Given the description of an element on the screen output the (x, y) to click on. 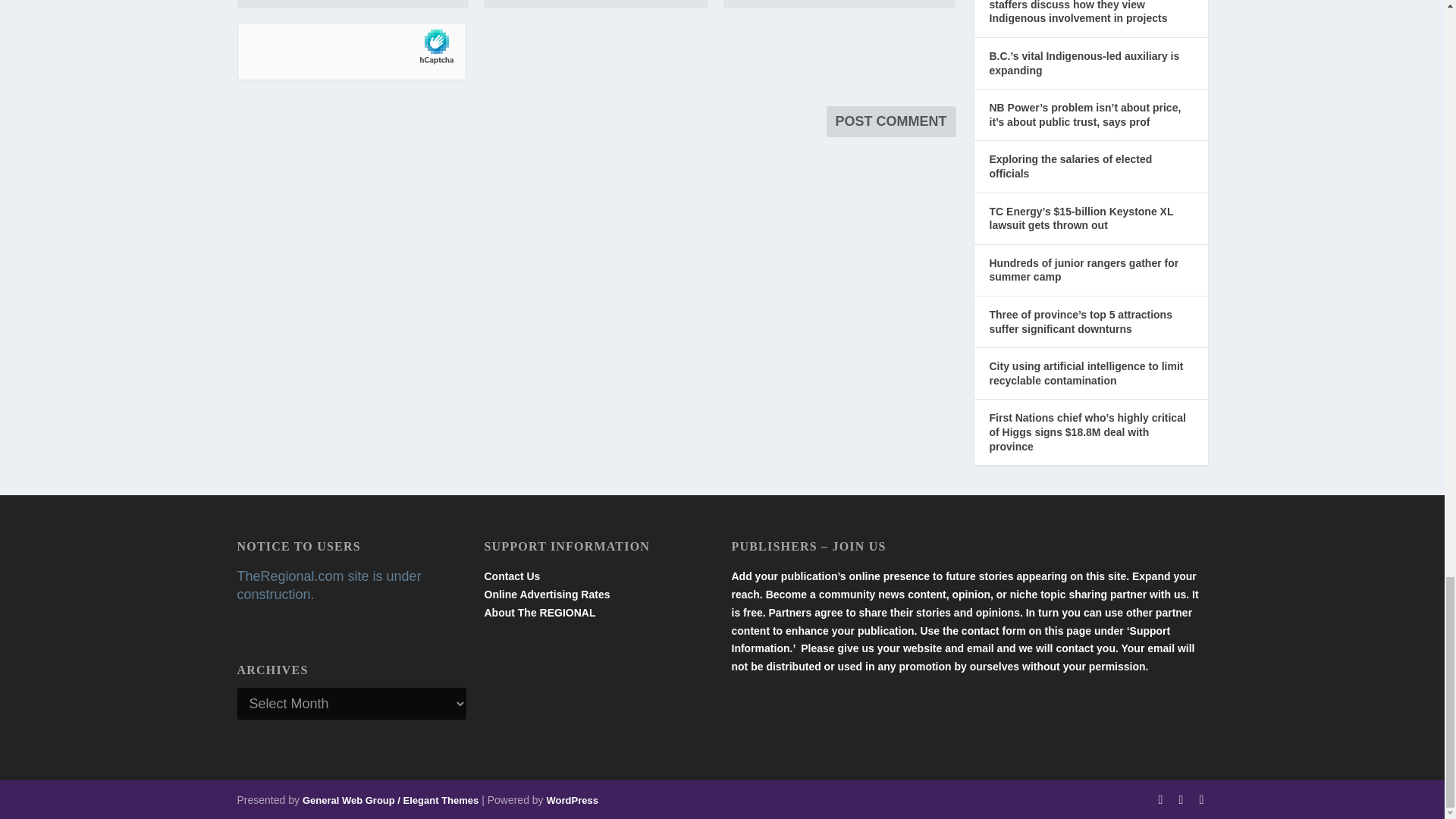
Widget containing checkbox for hCaptcha security challenge (350, 51)
Post Comment (891, 121)
Premium WordPress Themes (390, 799)
